Given the description of an element on the screen output the (x, y) to click on. 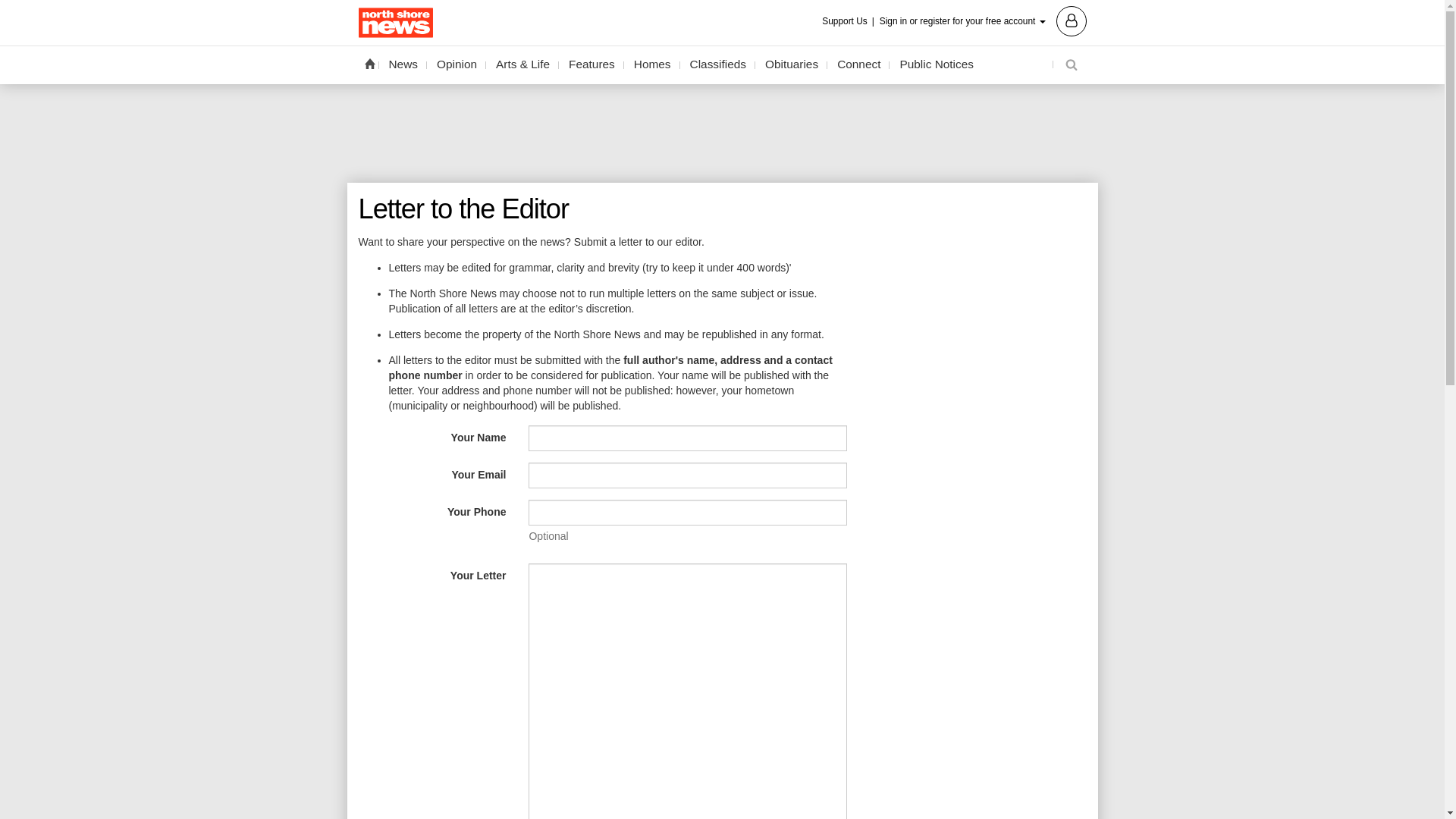
News (403, 64)
Opinion (456, 64)
Home (368, 63)
Sign in or register for your free account (982, 20)
Support Us (849, 21)
